Given the description of an element on the screen output the (x, y) to click on. 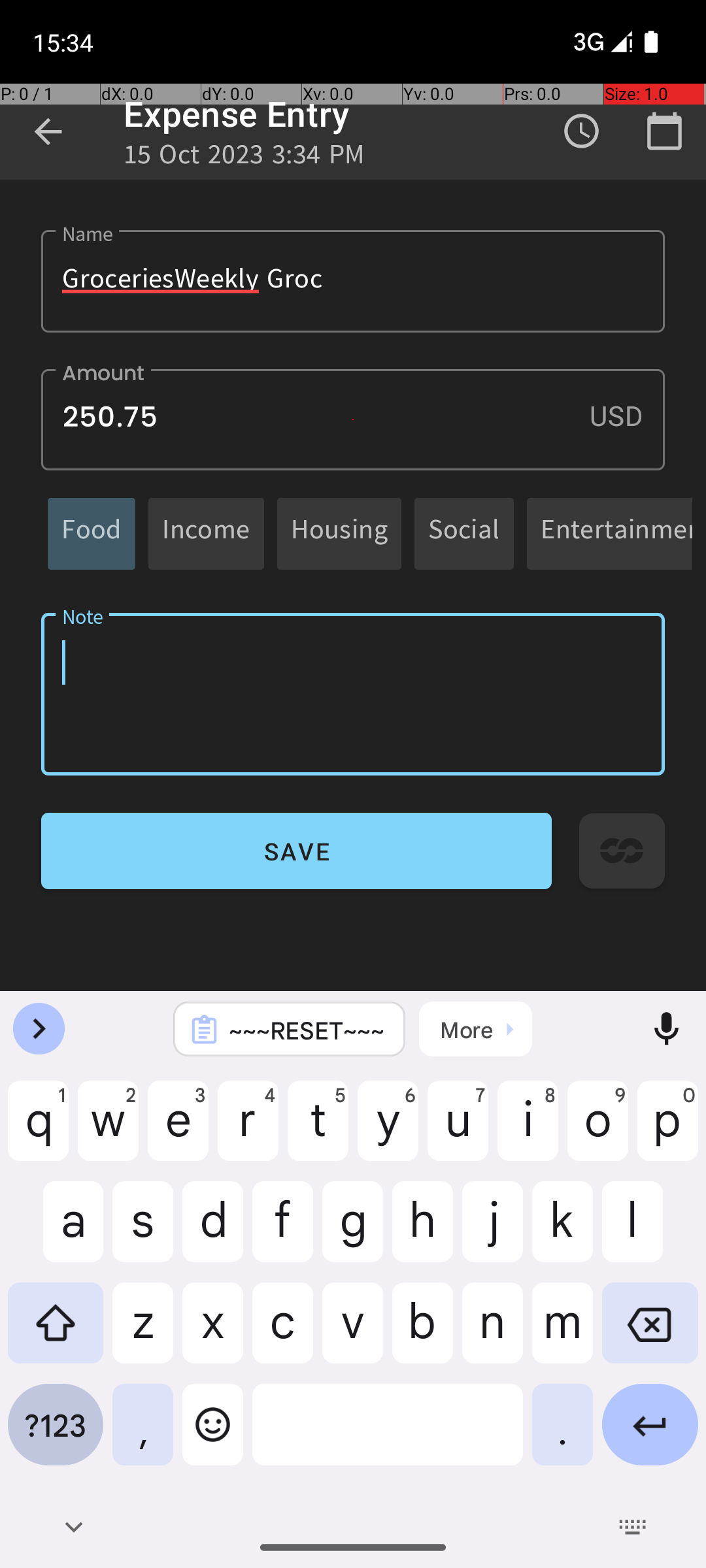
GroceriesWeekly Groc Element type: android.widget.EditText (352, 280)
250.75 Element type: android.widget.EditText (352, 419)
Click to open Clipboard Element type: android.view.ViewGroup (475, 1028)
~~~RESET~~~ Element type: android.widget.TextView (306, 1029)
